Given the description of an element on the screen output the (x, y) to click on. 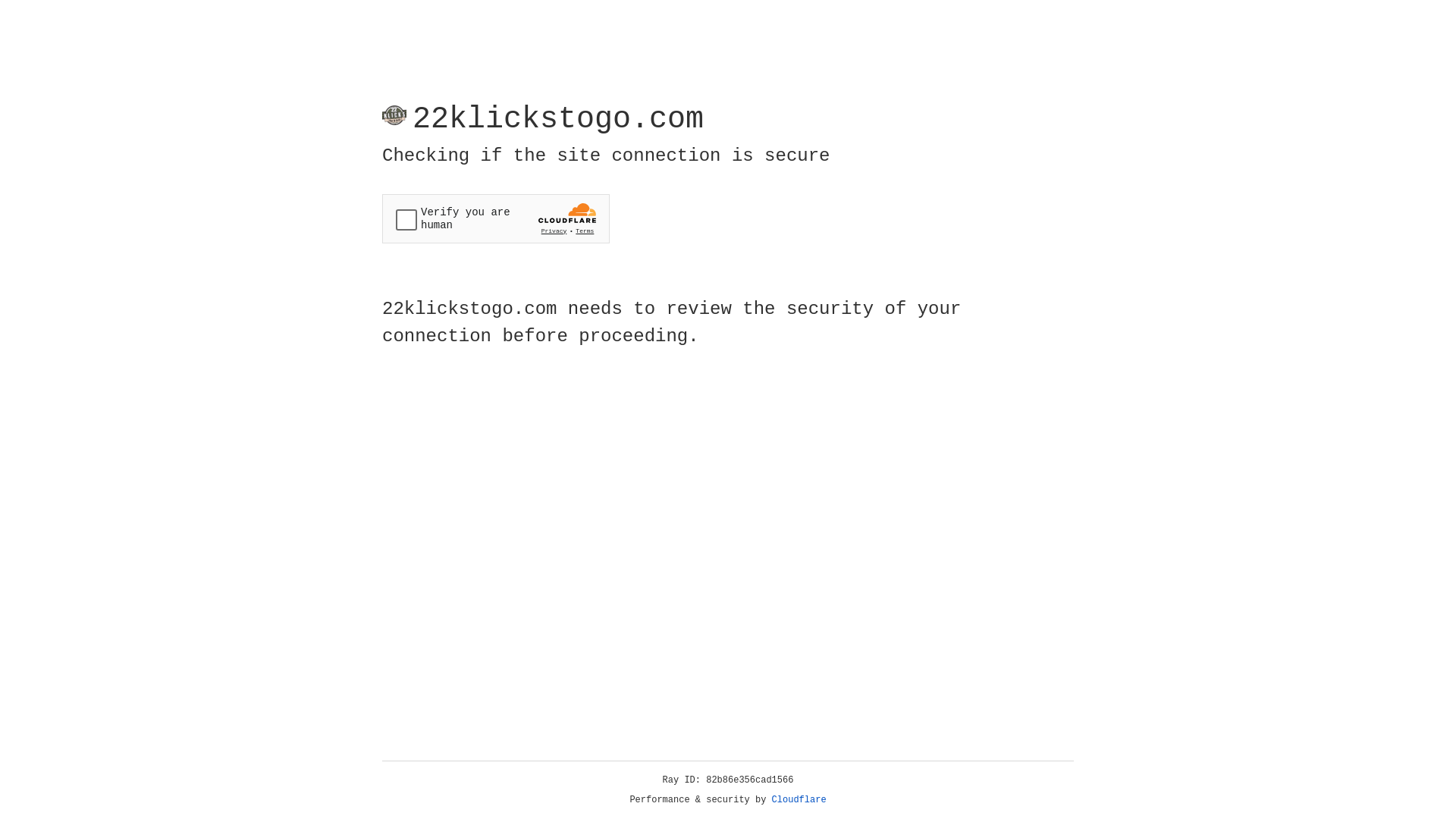
Widget containing a Cloudflare security challenge Element type: hover (495, 218)
Cloudflare Element type: text (798, 799)
